Given the description of an element on the screen output the (x, y) to click on. 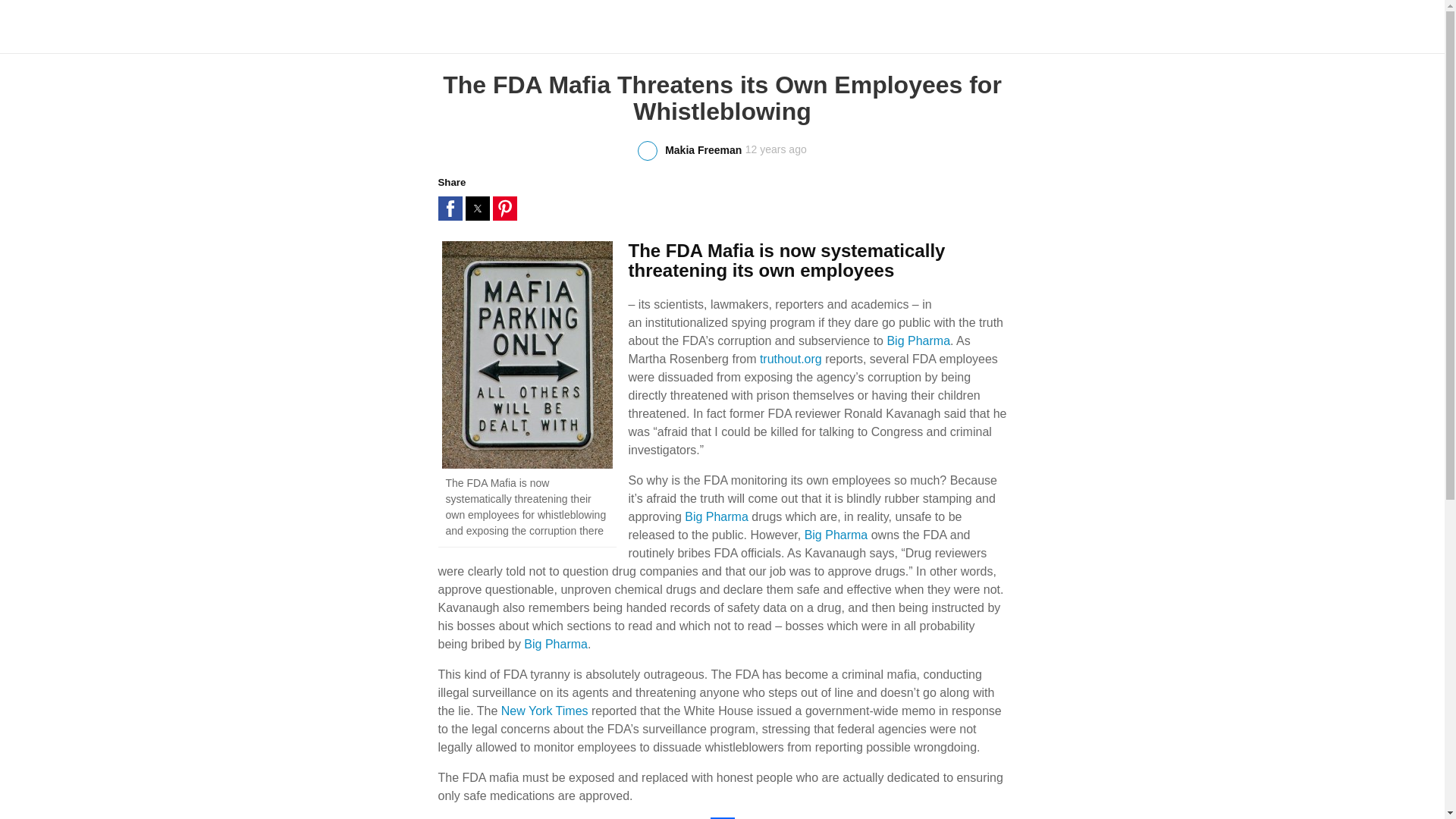
Big Pharma (836, 534)
truthout.org (791, 358)
Big Pharma (716, 516)
Big Pharma (556, 644)
Big Pharma (918, 340)
New York Times (544, 710)
